Given the description of an element on the screen output the (x, y) to click on. 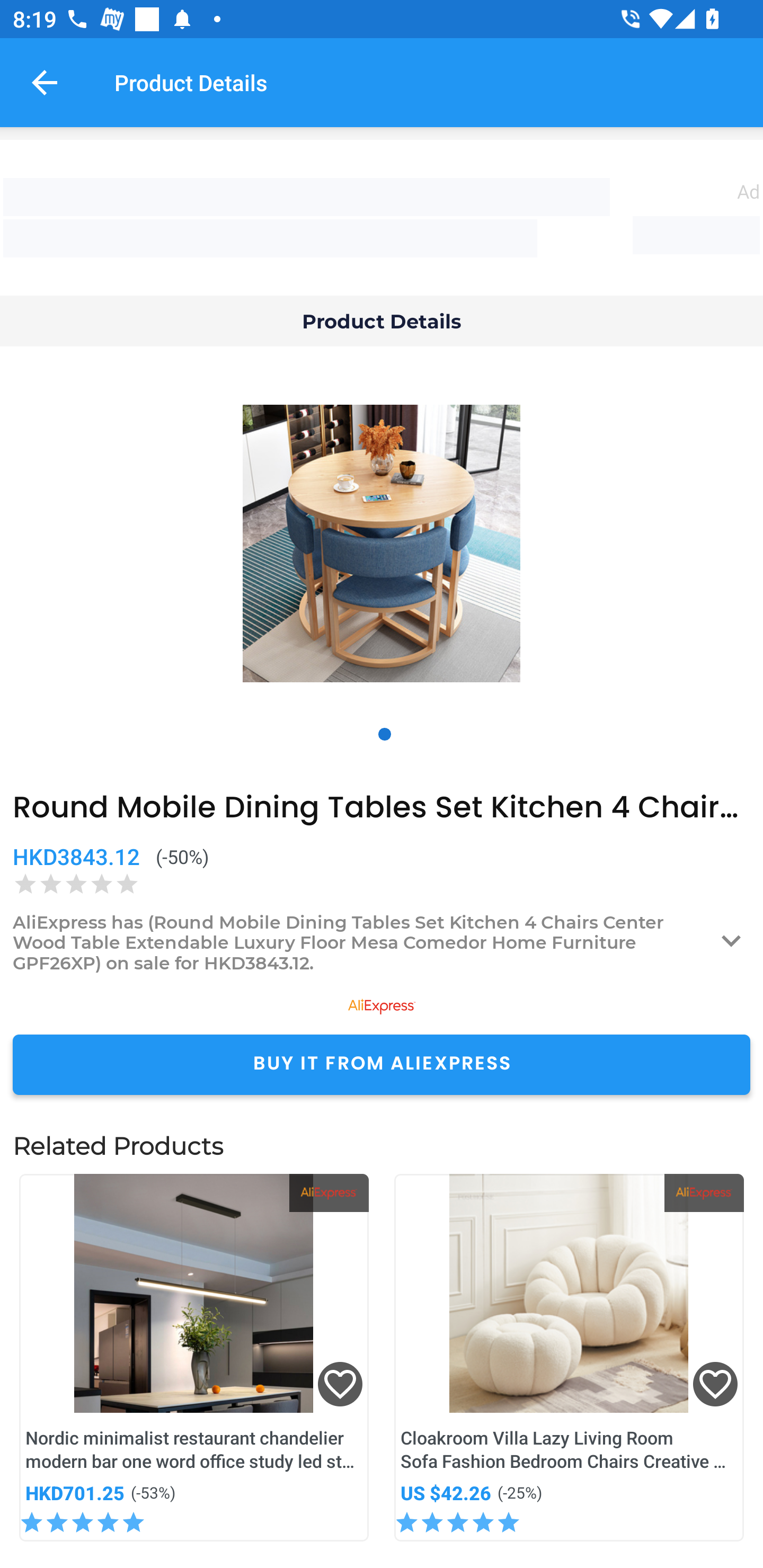
Navigate up (44, 82)
BUY IT FROM ALIEXPRESS (381, 1064)
